Given the description of an element on the screen output the (x, y) to click on. 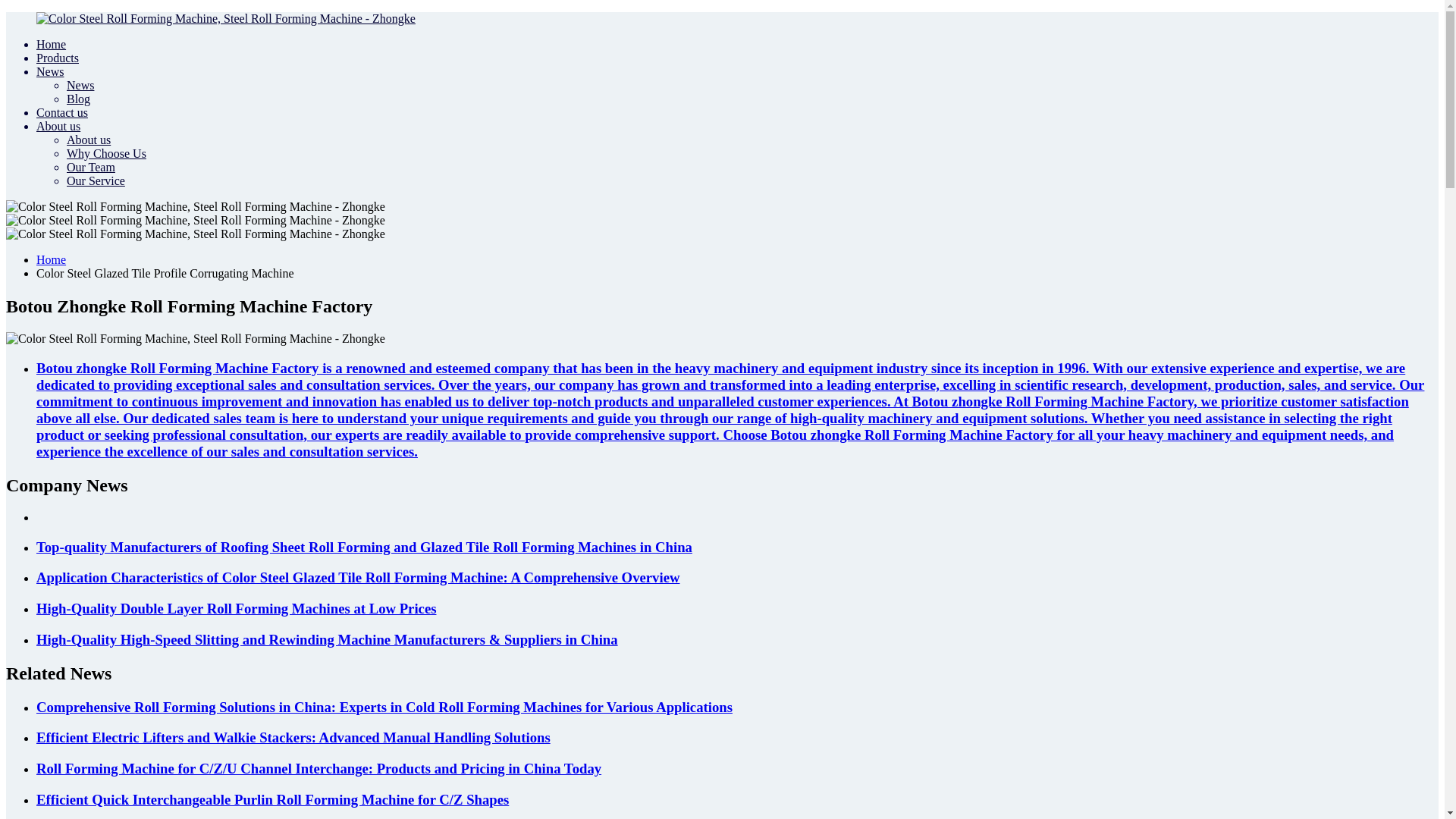
Home (50, 43)
Home (50, 259)
Contact us (61, 112)
News (80, 84)
News (50, 71)
About us (88, 139)
About us (58, 125)
Why Choose Us (106, 153)
Our Service (95, 180)
Blog (78, 98)
Our Team (90, 166)
Products (57, 57)
